Given the description of an element on the screen output the (x, y) to click on. 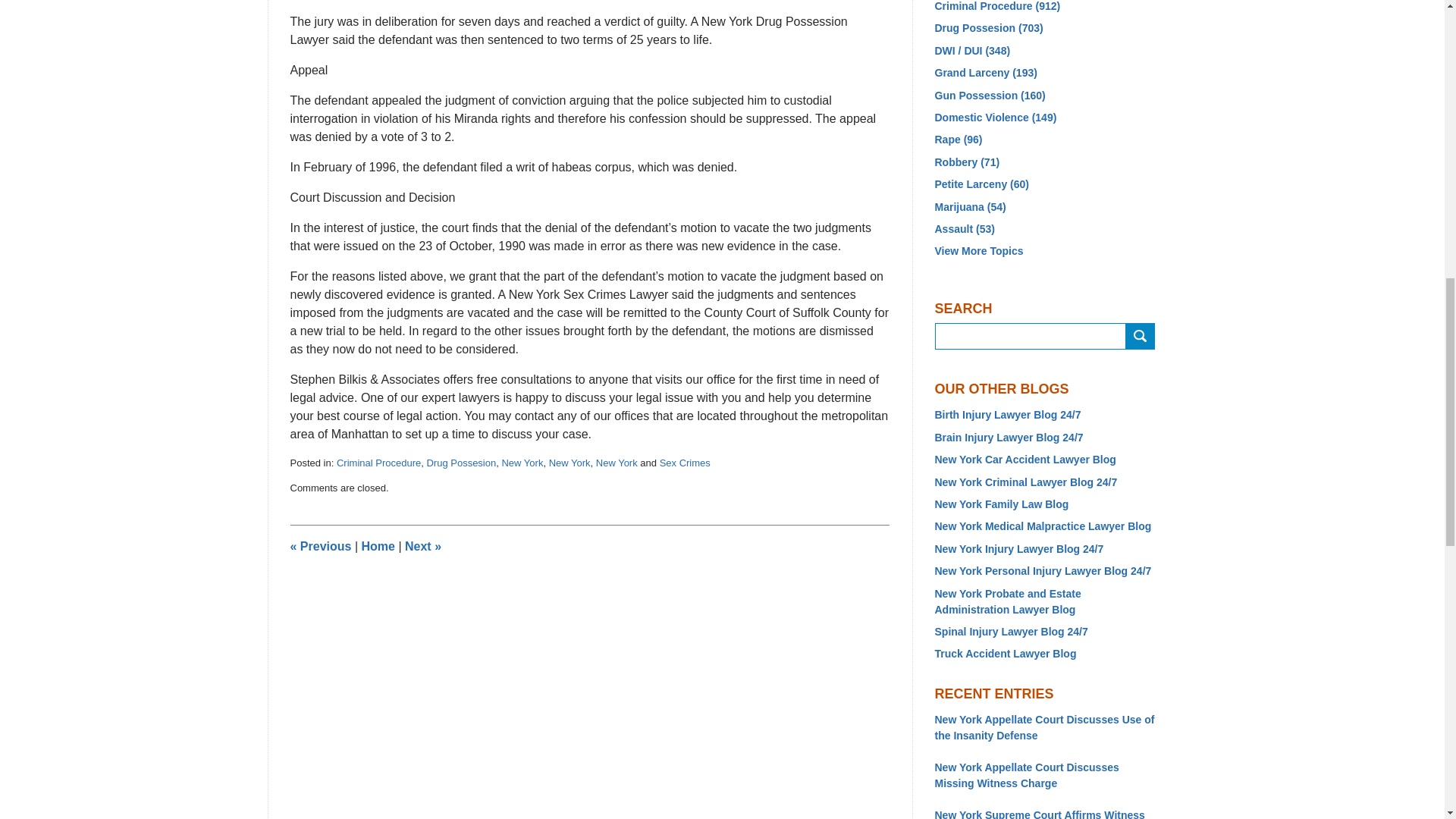
View all posts in Drug Possesion (461, 462)
New York (616, 462)
View all posts in New York (521, 462)
New York (521, 462)
View all posts in Criminal Procedure (378, 462)
Drug Possesion (461, 462)
Home (377, 545)
Sex Crimes (684, 462)
View all posts in Sex Crimes (684, 462)
Defendant Appeals a Ruling for Malicious Prosecution (319, 545)
View all posts in New York (616, 462)
Criminal Procedure (378, 462)
New York (569, 462)
Court Hears Motion for Dismissal (422, 545)
View all posts in New York (569, 462)
